Given the description of an element on the screen output the (x, y) to click on. 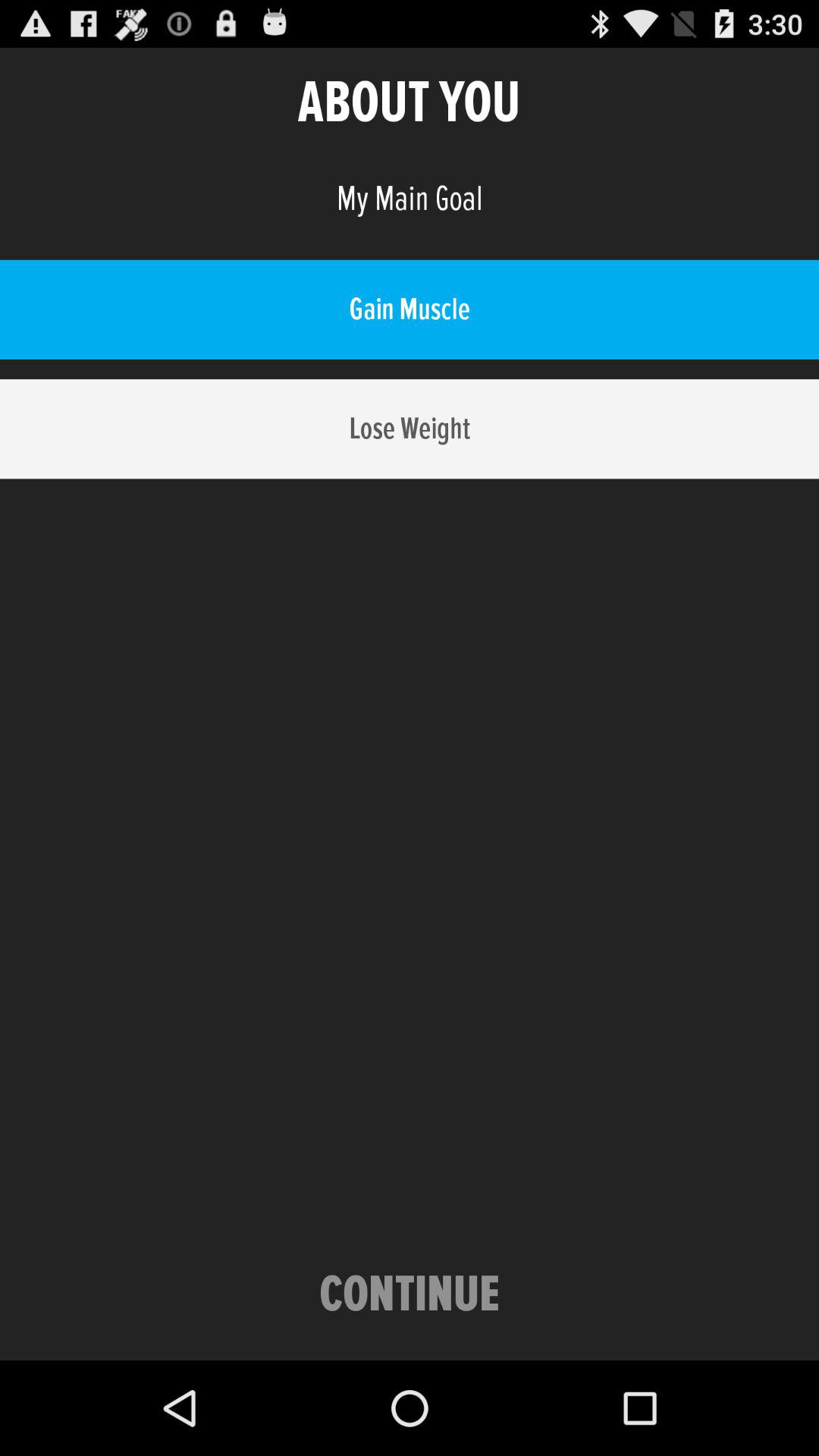
scroll to the continue item (409, 1295)
